Given the description of an element on the screen output the (x, y) to click on. 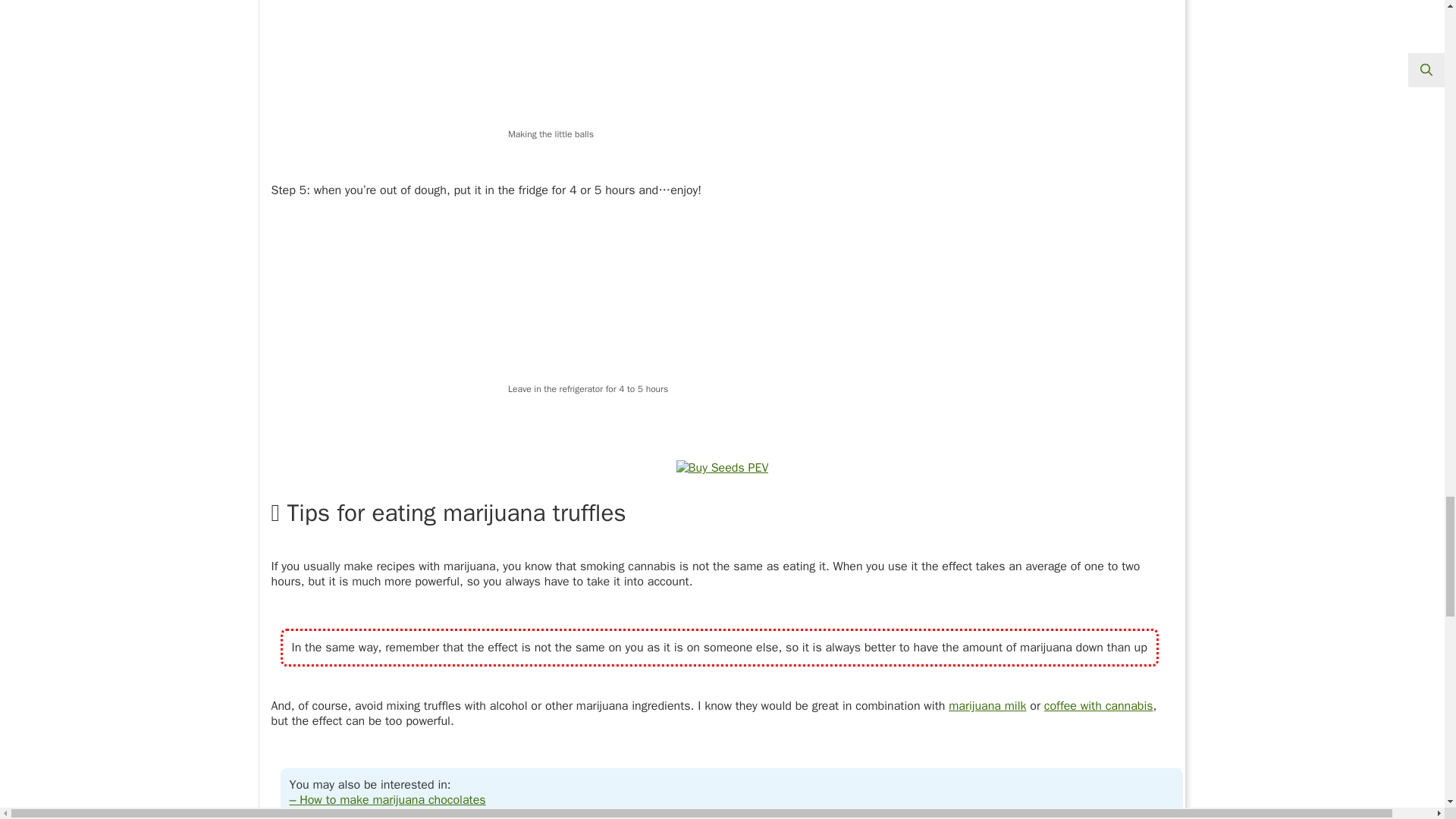
marijuana milk (987, 705)
coffee with cannabis (1098, 705)
